Given the description of an element on the screen output the (x, y) to click on. 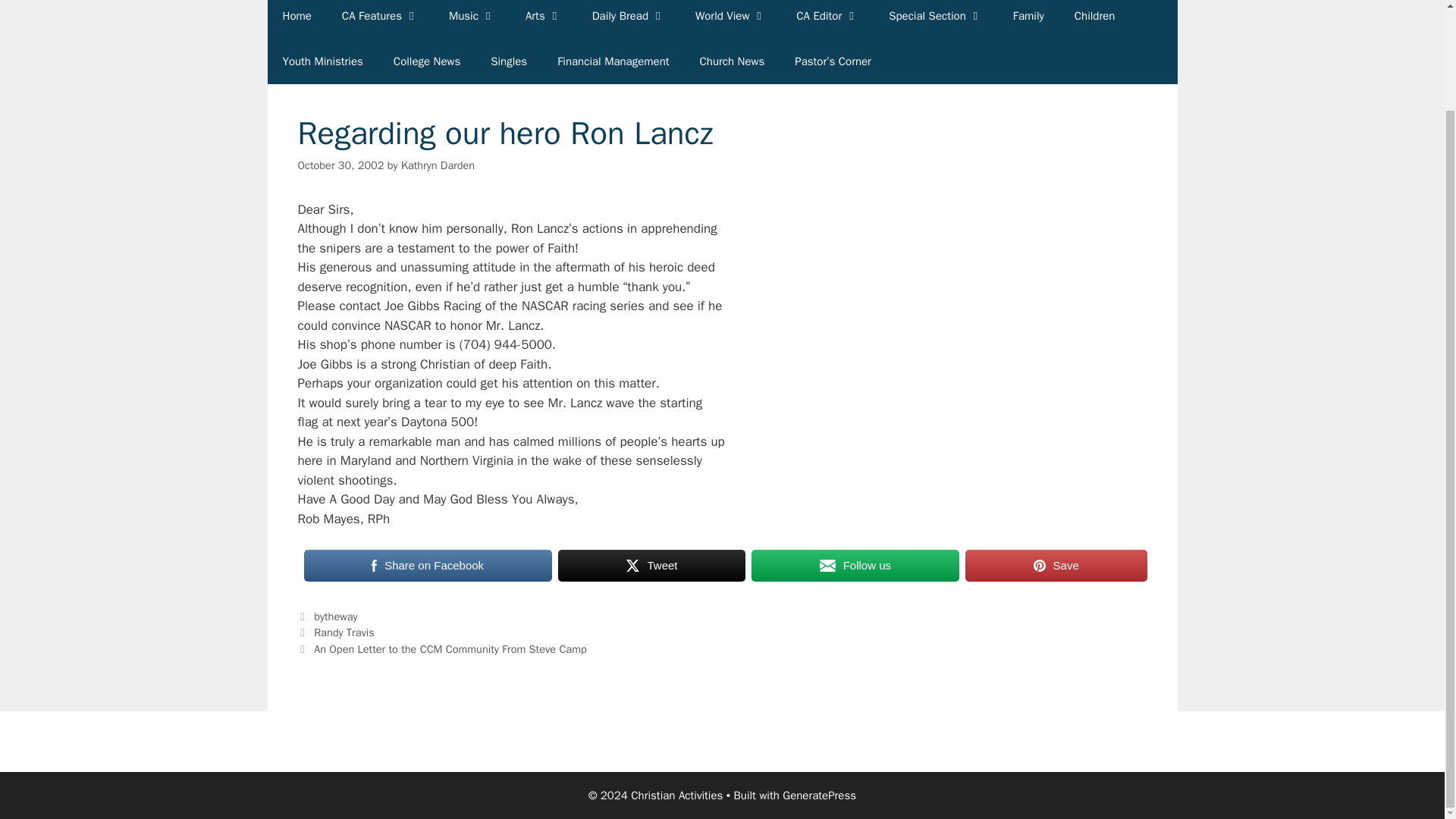
Singles (508, 61)
View all posts by Kathryn Darden (437, 164)
Home (296, 19)
College News (427, 61)
Music (472, 19)
Family (1028, 19)
Special Section (935, 19)
CA Editor (826, 19)
World View (729, 19)
CA Features (379, 19)
